Given the description of an element on the screen output the (x, y) to click on. 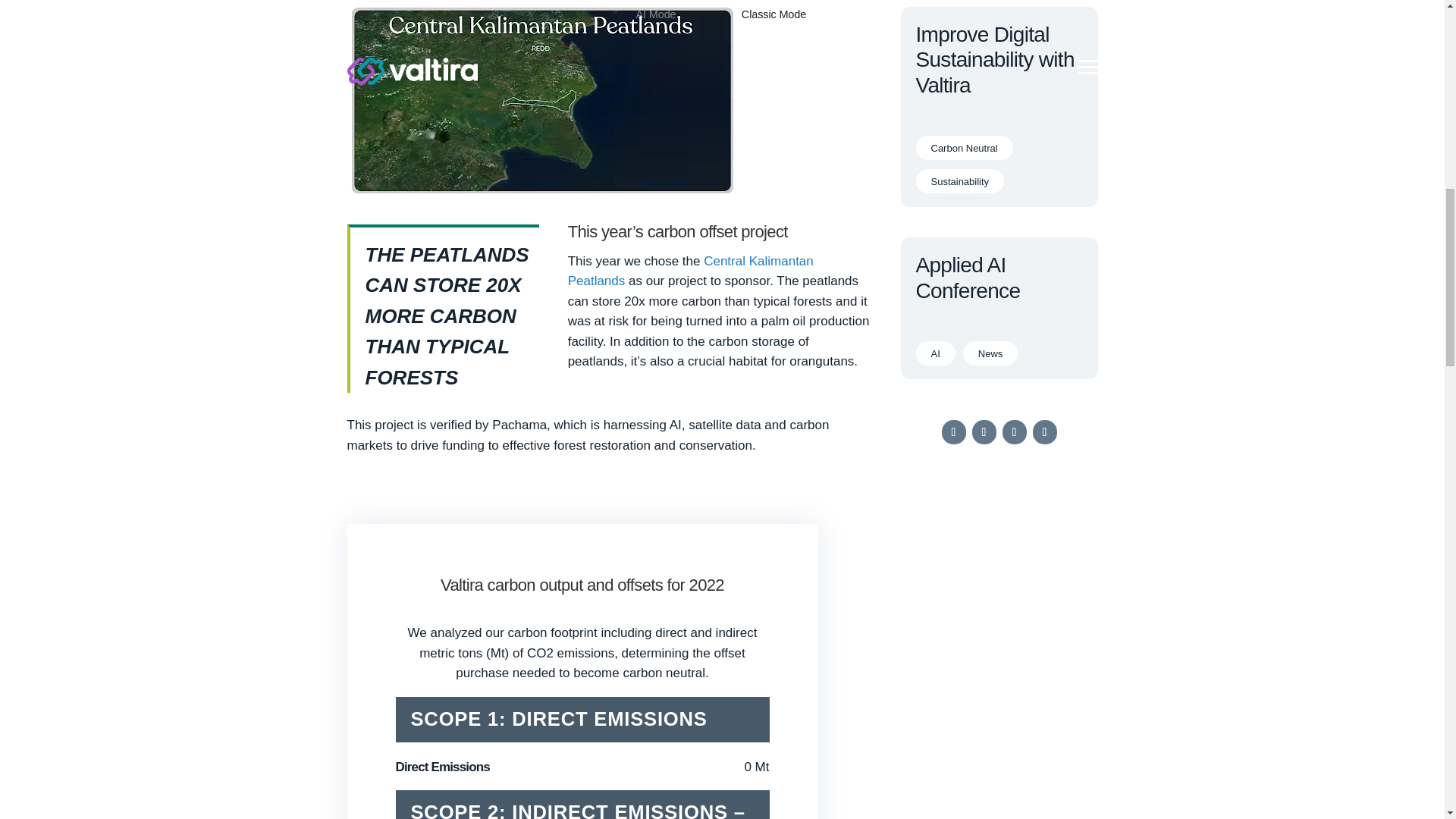
News (989, 353)
Central Kalimantan Peatlands (690, 271)
Follow on Facebook (954, 432)
Improve Digital Sustainability with Valtira (994, 59)
AI (935, 353)
Follow on Instagram (983, 432)
Sustainability (959, 180)
Applied AI Conference (967, 277)
valtira-carbon-offset (541, 192)
Follow on LinkedIn (1044, 432)
Follow on Twitter (1014, 432)
Carbon Neutral (964, 147)
